Given the description of an element on the screen output the (x, y) to click on. 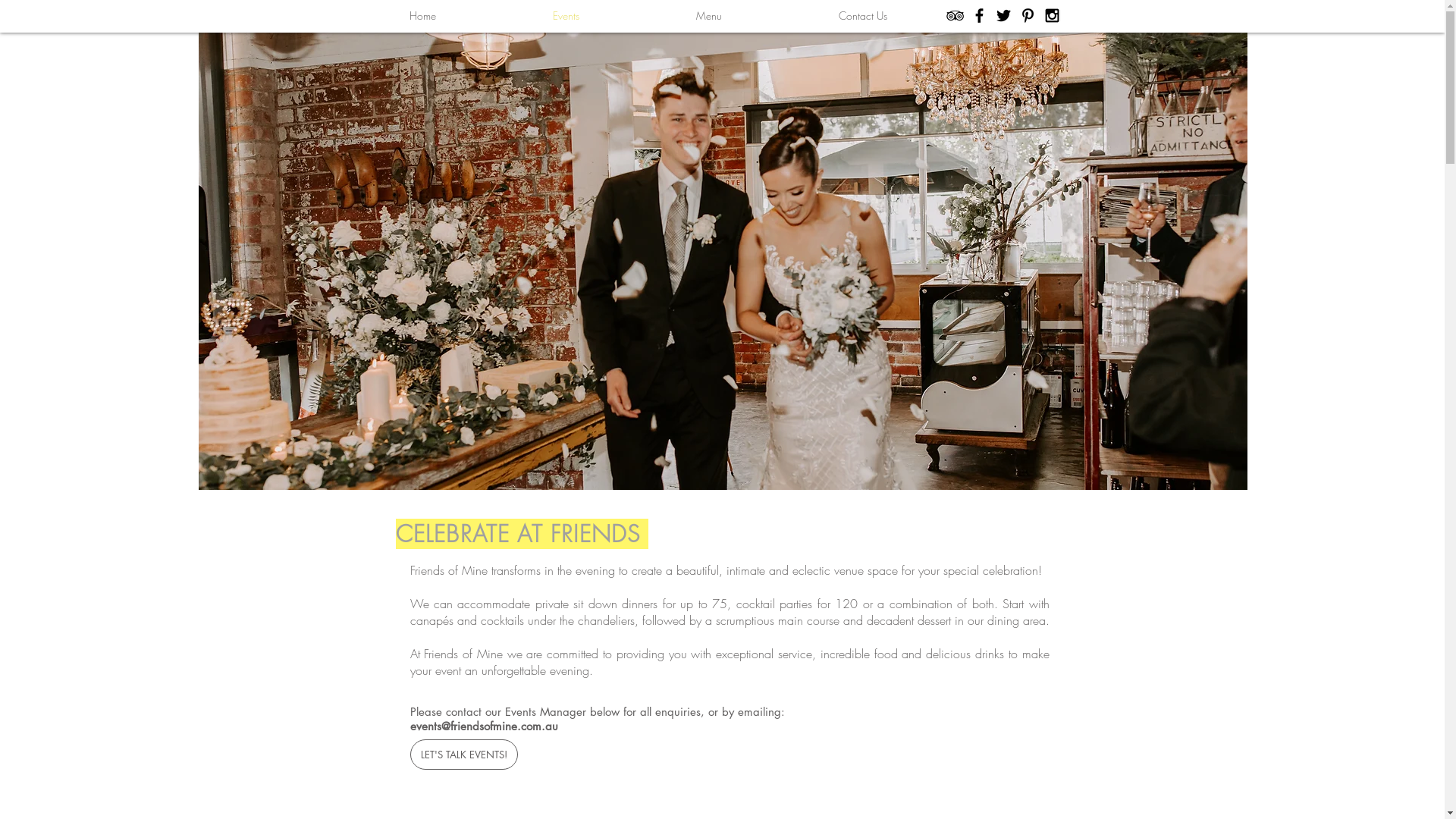
Contact Us Element type: text (861, 15)
Menu Element type: text (708, 15)
LET'S TALK EVENTS! Element type: text (463, 754)
Home Element type: text (421, 15)
events@friendsofmine.com.au Element type: text (483, 725)
Events Element type: text (565, 15)
